Given the description of an element on the screen output the (x, y) to click on. 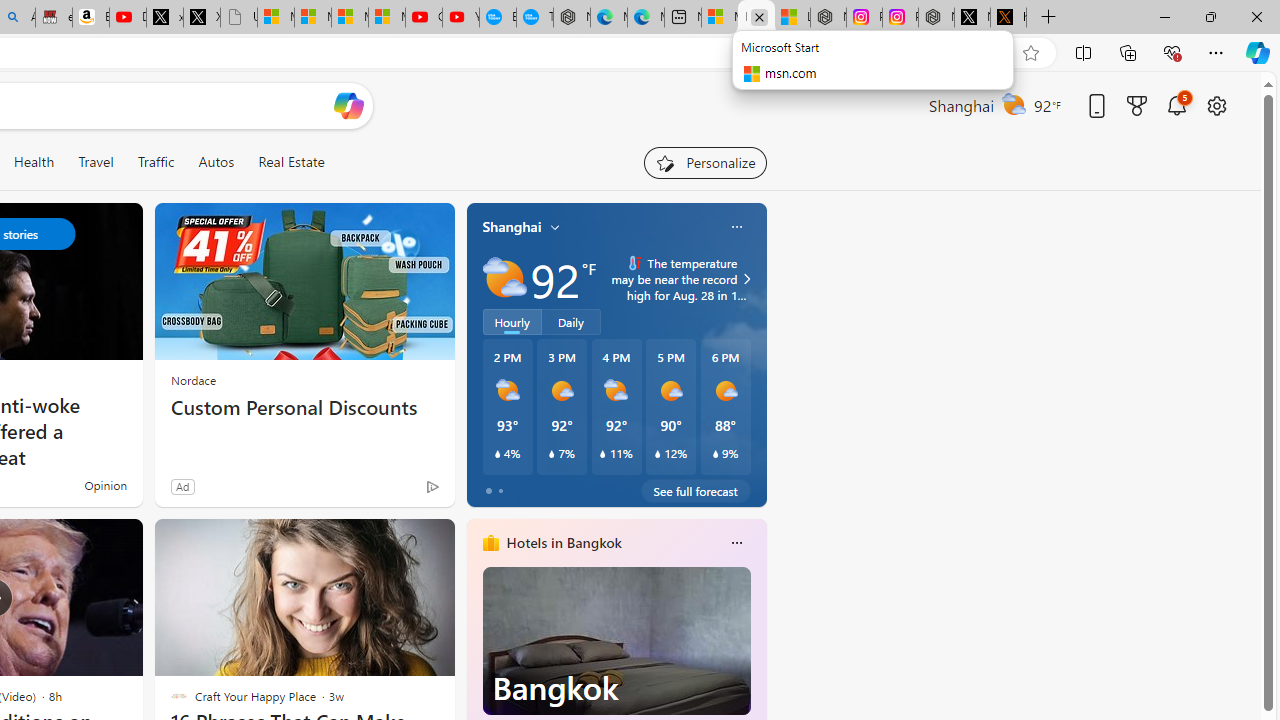
Real Estate (290, 162)
Personalize your feed" (704, 162)
help.x.com | 524: A timeout occurred (1008, 17)
Partly sunny (504, 278)
Class: weather-current-precipitation-glyph (715, 453)
Day 1: Arriving in Yemen (surreal to be here) - YouTube (127, 17)
See full forecast (695, 490)
Open settings (1216, 105)
tab-0 (488, 490)
